Given the description of an element on the screen output the (x, y) to click on. 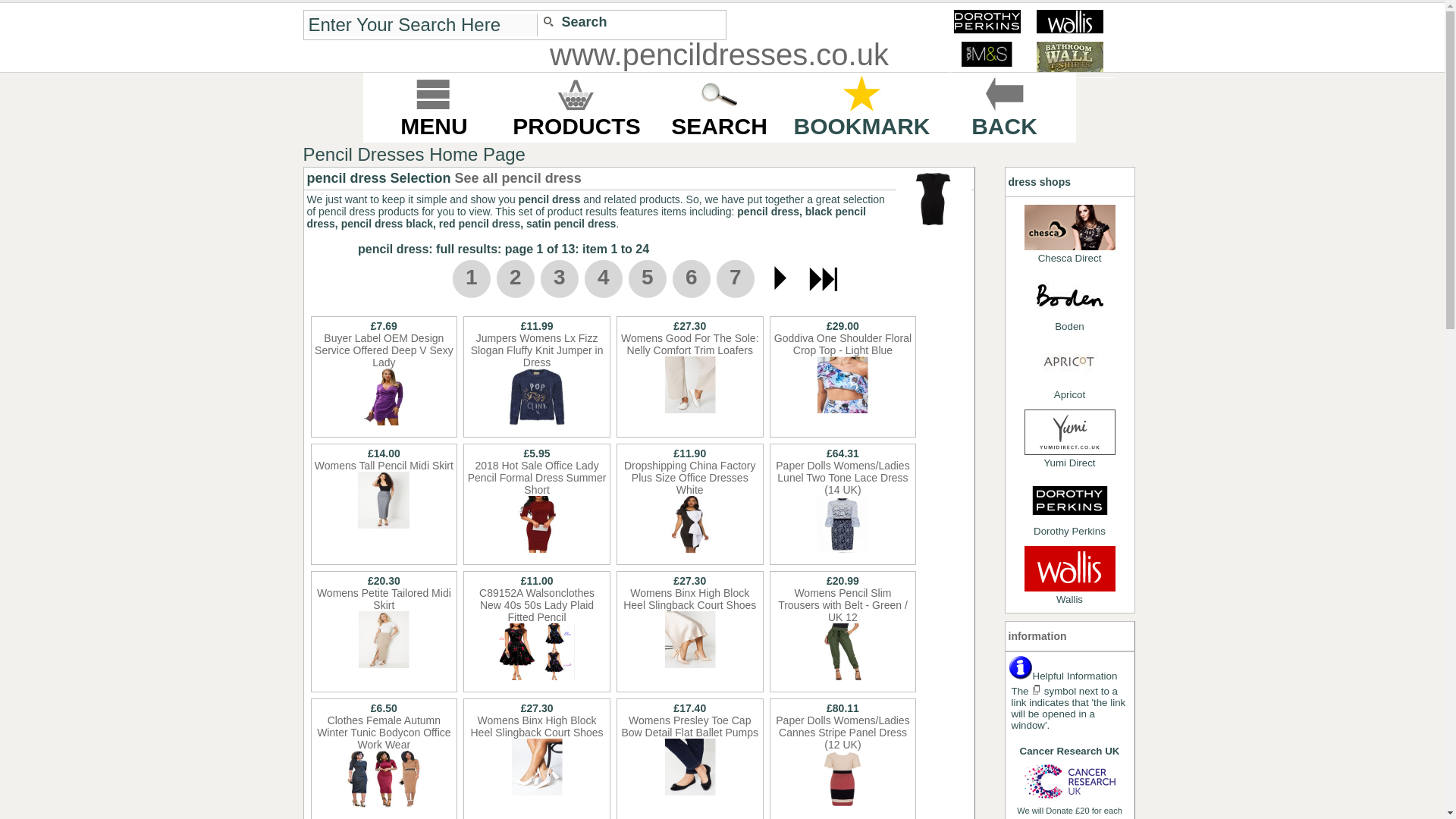
SEARCH (719, 107)
Search (577, 22)
Goddiva One Shoulder Floral Crop Top - Light Blue (842, 384)
Womens Tall Pencil Midi Skirt (383, 480)
BOOKMARK (861, 107)
Womens Tall Pencil Midi Skirt (384, 499)
See all pencil dress (517, 177)
MENU (433, 107)
Womens Petite Tailored Midi Skirt (384, 639)
Enter Your Search Here (421, 24)
Womens Binx High Block Heel Slingback Court Shoes (537, 766)
